Given the description of an element on the screen output the (x, y) to click on. 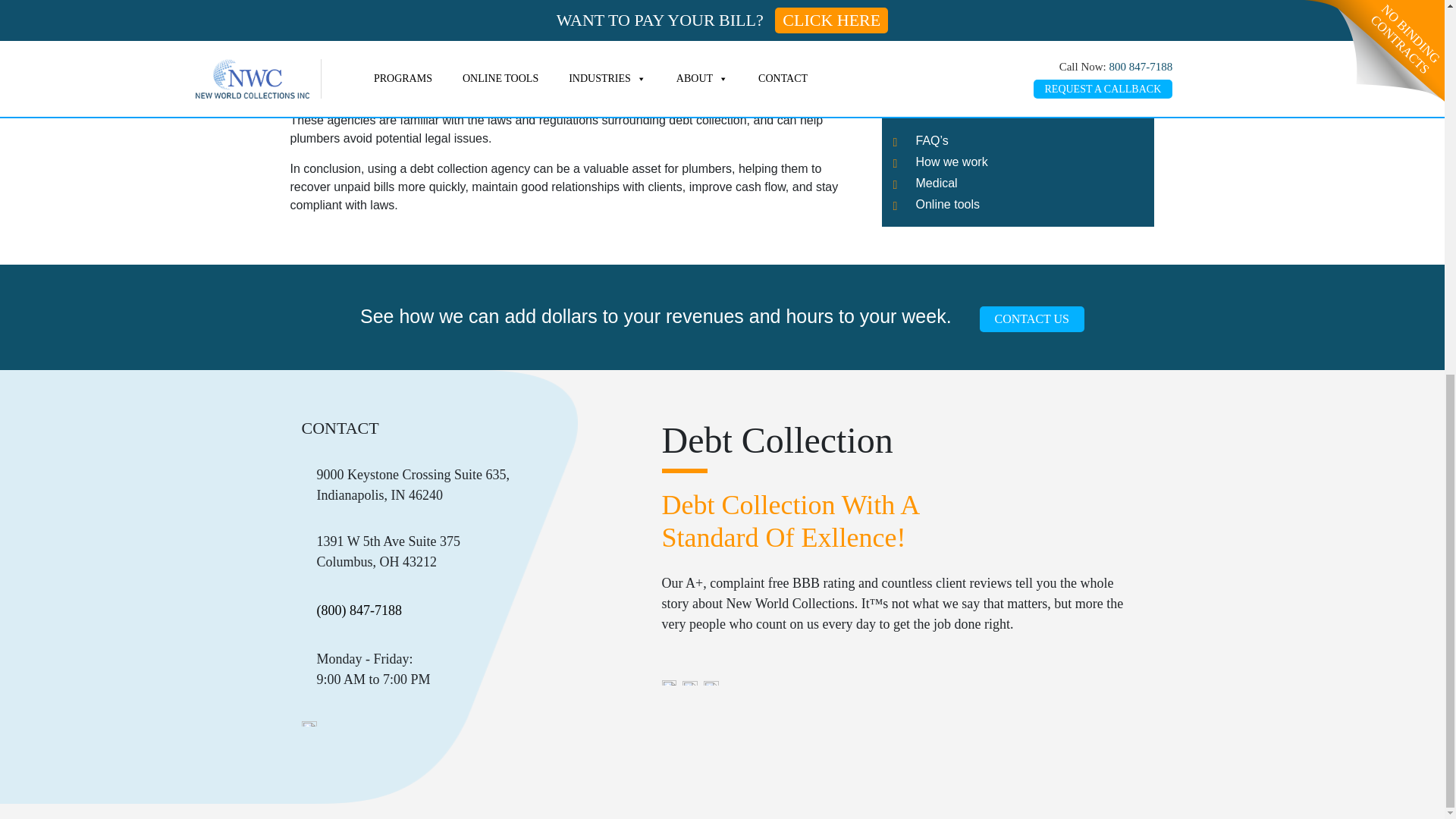
How we work (951, 103)
Medical (936, 124)
CONTACT US (1031, 319)
Online tools (947, 145)
